Given the description of an element on the screen output the (x, y) to click on. 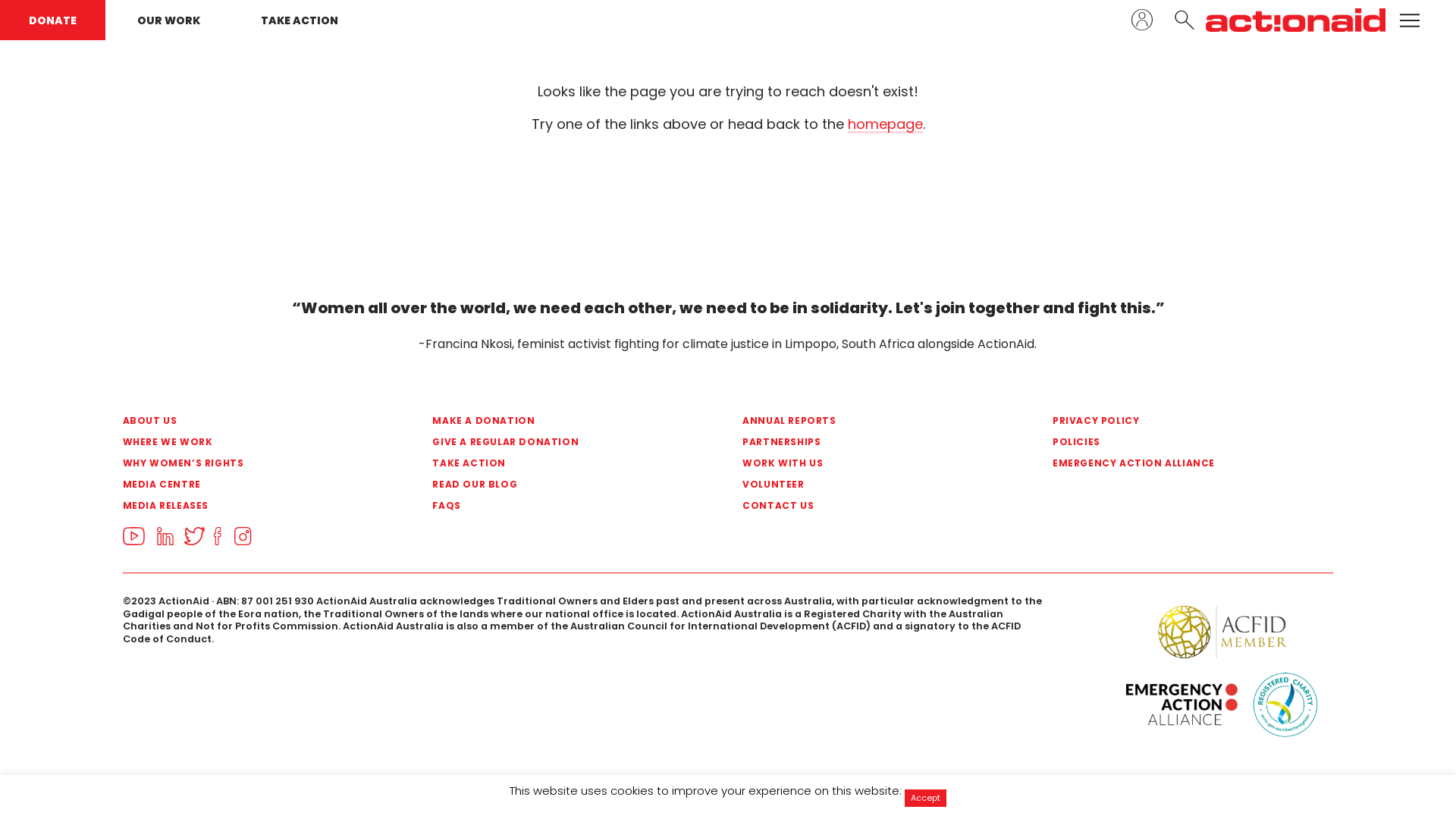
WORK WITH US Element type: text (860, 462)
OUR WORK Element type: text (168, 20)
MEDIA CENTRE Element type: text (241, 484)
TAKE ACTION Element type: text (550, 462)
PRIVACY POLICY Element type: text (1170, 420)
MEDIA RELEASES Element type: text (241, 505)
MAKE A DONATION Element type: text (550, 420)
VOLUNTEER Element type: text (860, 484)
CONTACT US Element type: text (860, 505)
FAQS Element type: text (550, 505)
POLICIES Element type: text (1170, 441)
homepage Element type: text (884, 123)
ANNUAL REPORTS Element type: text (860, 420)
WHERE WE WORK Element type: text (241, 441)
EMERGENCY ACTION ALLIANCE Element type: text (1170, 462)
PARTNERSHIPS Element type: text (860, 441)
GIVE A REGULAR DONATION Element type: text (550, 441)
READ OUR BLOG Element type: text (550, 484)
Accept Element type: text (925, 797)
DONATE Element type: text (52, 20)
ABOUT US Element type: text (241, 420)
TAKE ACTION Element type: text (299, 20)
